Given the description of an element on the screen output the (x, y) to click on. 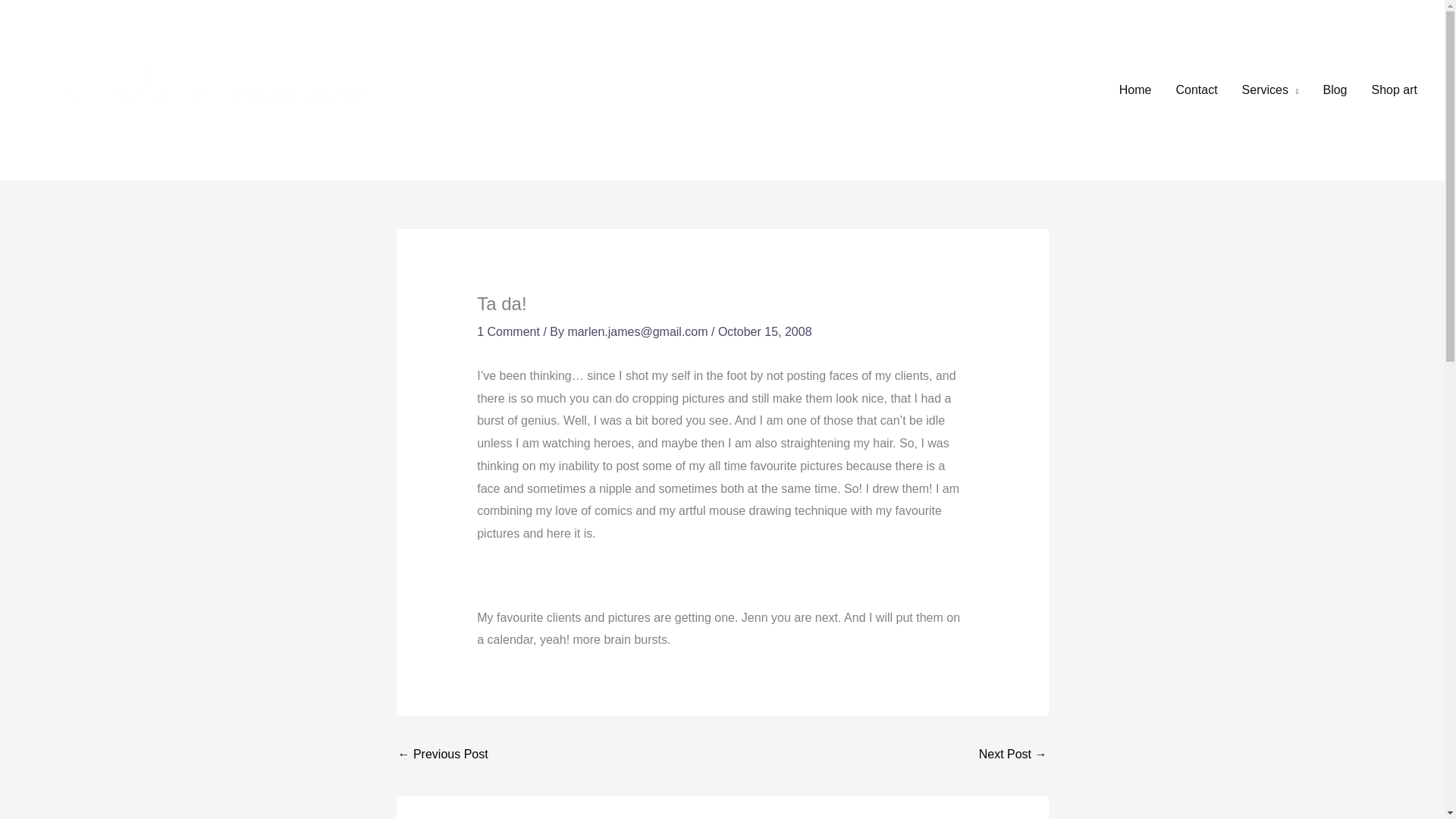
1 Comment (508, 331)
Services (1270, 90)
Blog (1334, 90)
Contact (1195, 90)
Shop art (1394, 90)
ha! I am done! (442, 755)
Lace and lipstick (1012, 755)
Home (1134, 90)
